Given the description of an element on the screen output the (x, y) to click on. 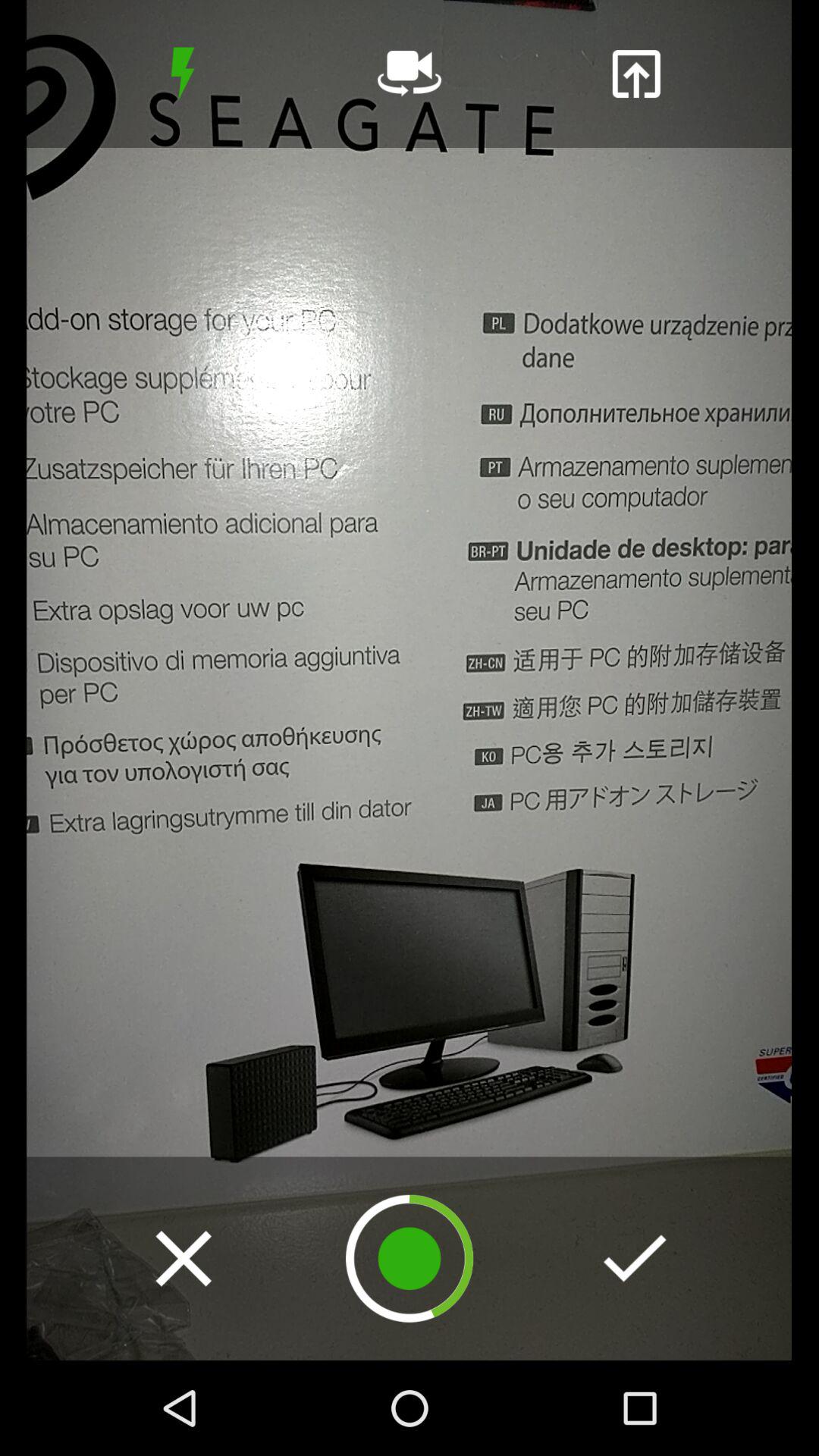
checkmark to continue (634, 1258)
